Given the description of an element on the screen output the (x, y) to click on. 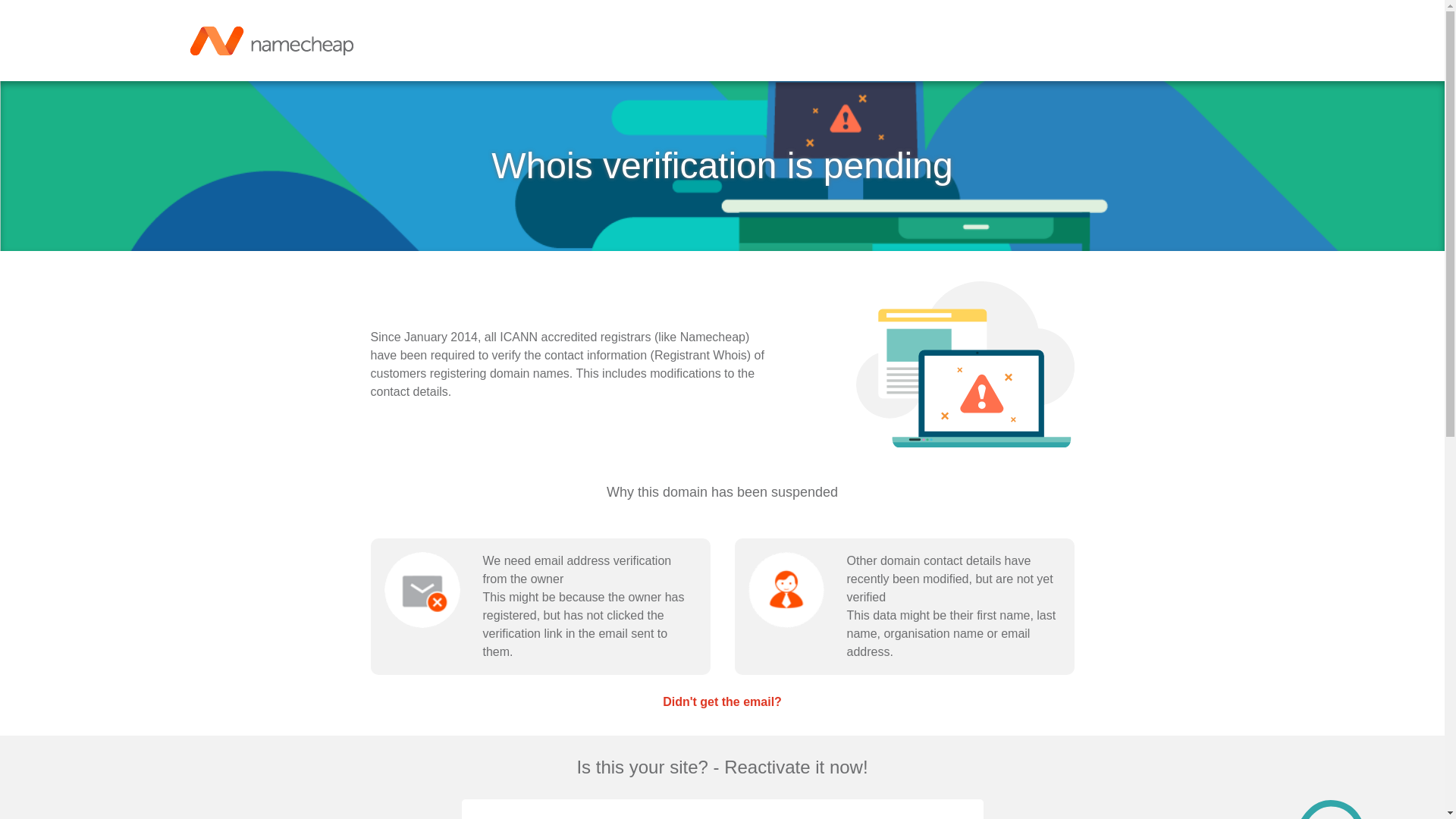
Didn't get the email? (721, 701)
